Given the description of an element on the screen output the (x, y) to click on. 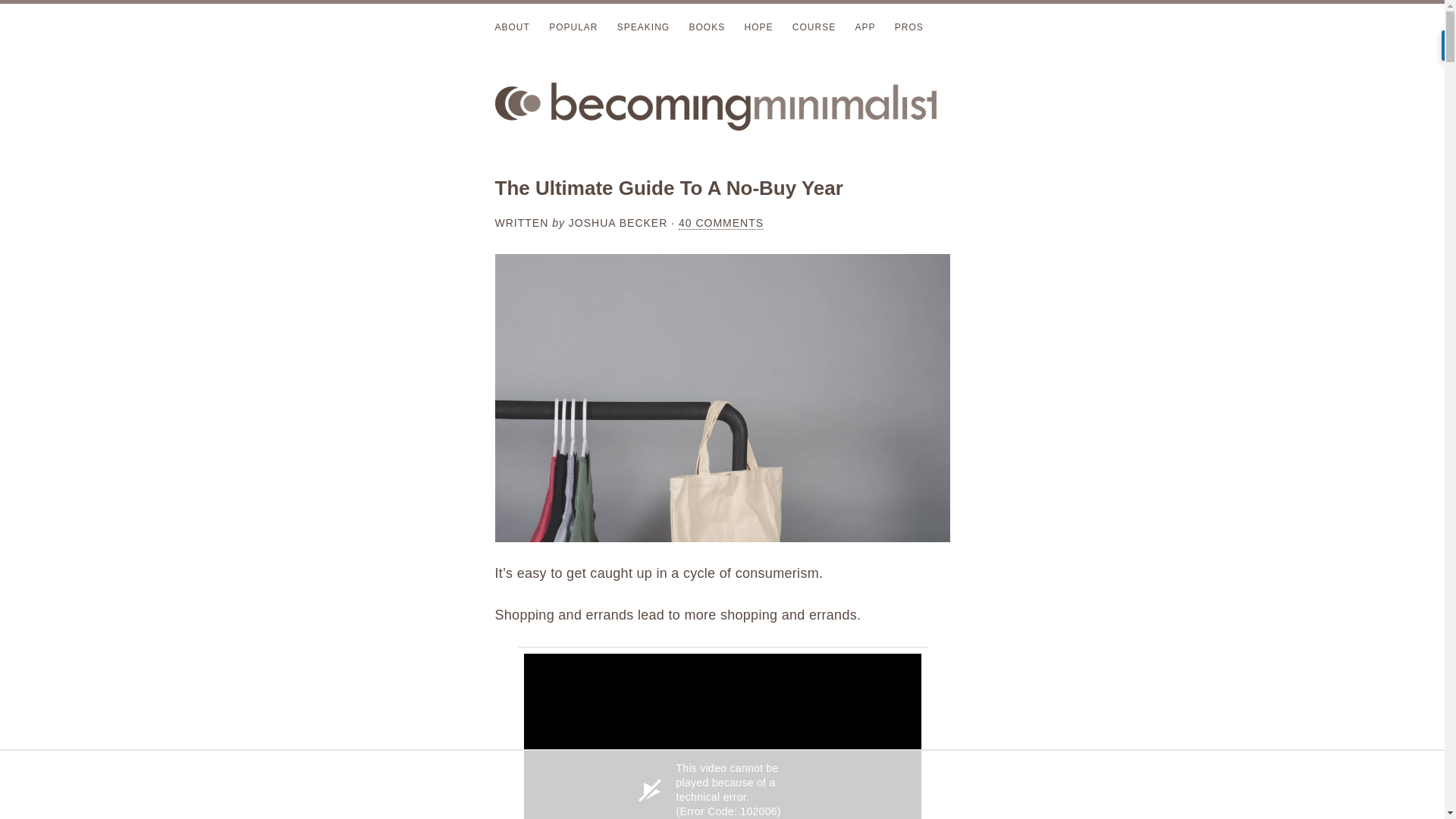
HOPE (758, 27)
PROS (909, 27)
POPULAR (572, 27)
BOOKS (706, 27)
Becoming Minimalist (722, 104)
COURSE (813, 27)
APP (864, 27)
SPEAKING (643, 27)
ABOUT (512, 27)
40 COMMENTS (720, 223)
